Given the description of an element on the screen output the (x, y) to click on. 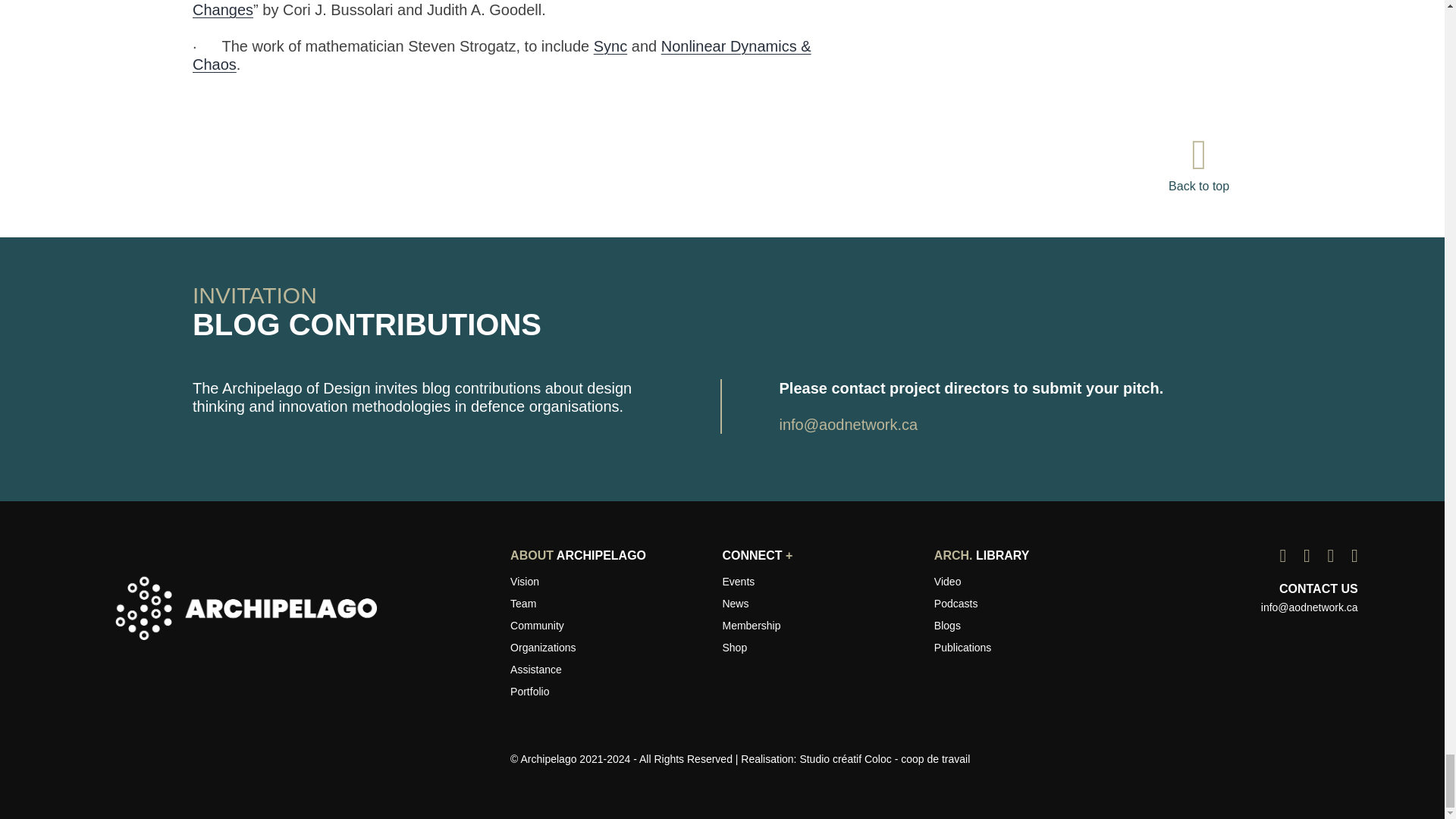
Back to top (1198, 175)
Sync (610, 45)
ABOUT ARCHIPELAGO (578, 556)
Vision (524, 581)
